Given the description of an element on the screen output the (x, y) to click on. 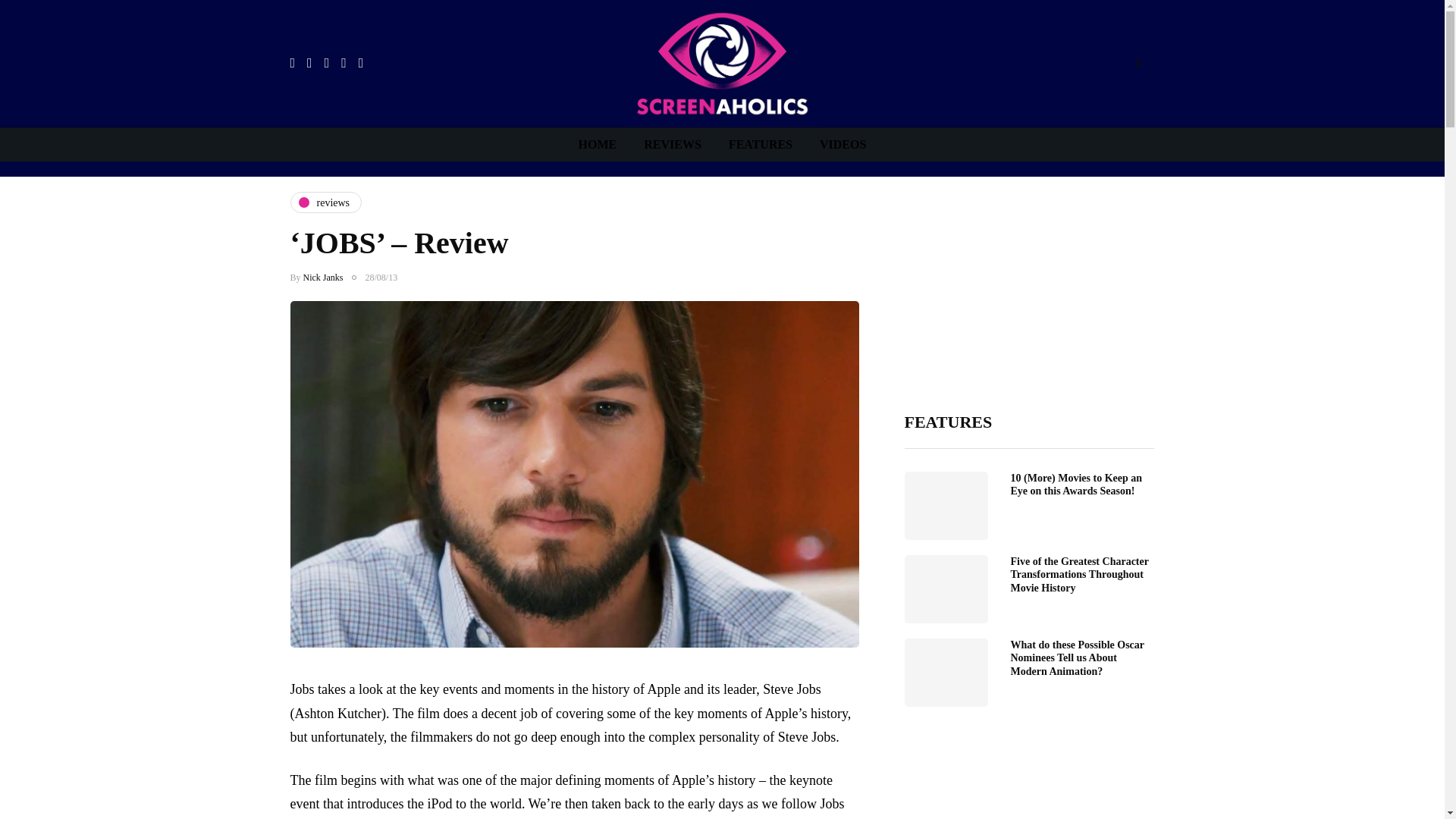
HOME (597, 144)
Nick Janks (322, 276)
VIDEOS (842, 144)
FEATURES (760, 144)
REVIEWS (672, 144)
Posts by Nick Janks (322, 276)
reviews (325, 201)
